Given the description of an element on the screen output the (x, y) to click on. 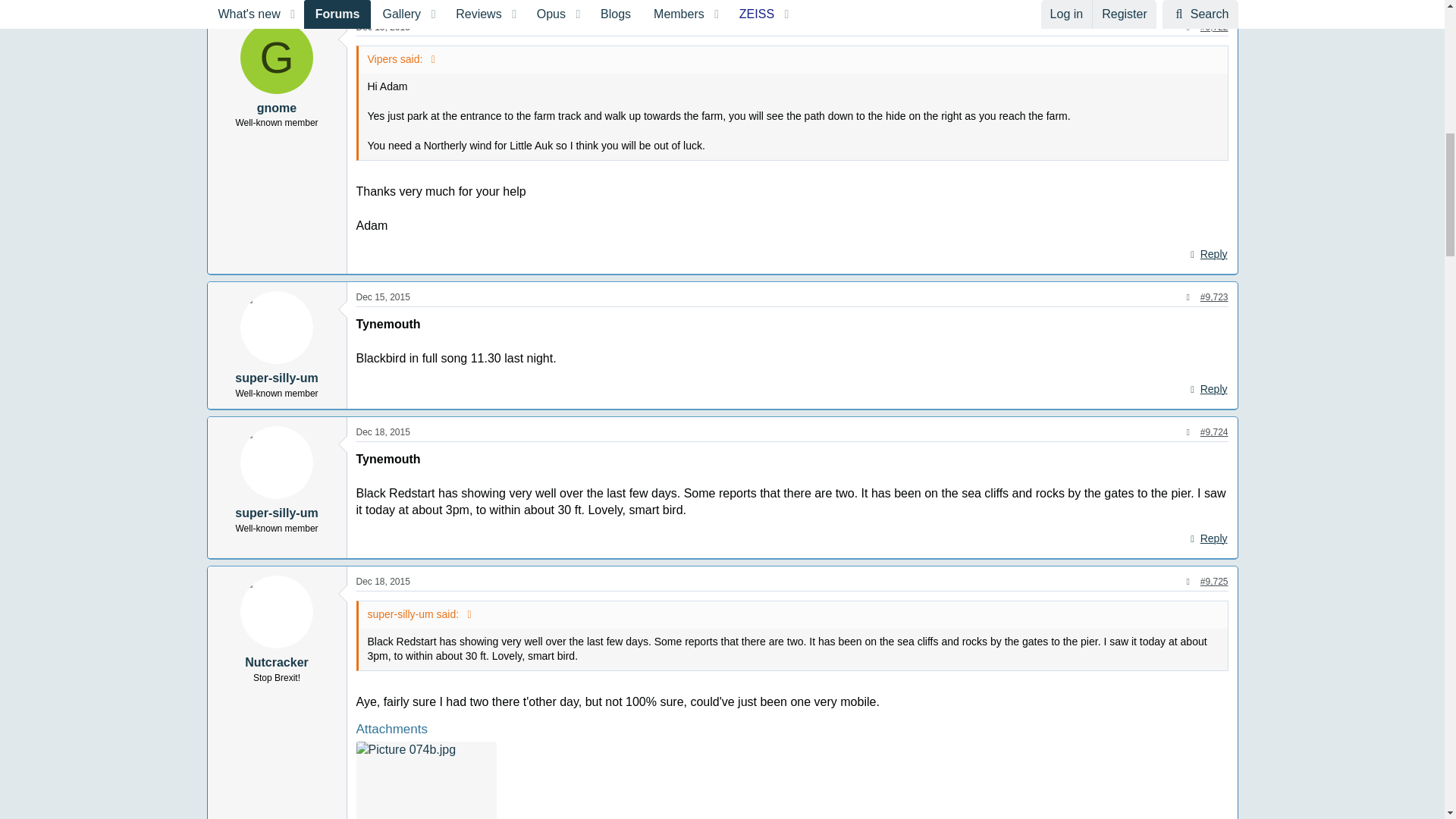
Dec 15, 2015 at 8:19 AM (383, 27)
Dec 18, 2015 at 9:18 PM (383, 431)
Reply, quoting this message (1207, 389)
Dec 15, 2015 at 8:47 AM (383, 296)
Reply, quoting this message (1207, 254)
